Given the description of an element on the screen output the (x, y) to click on. 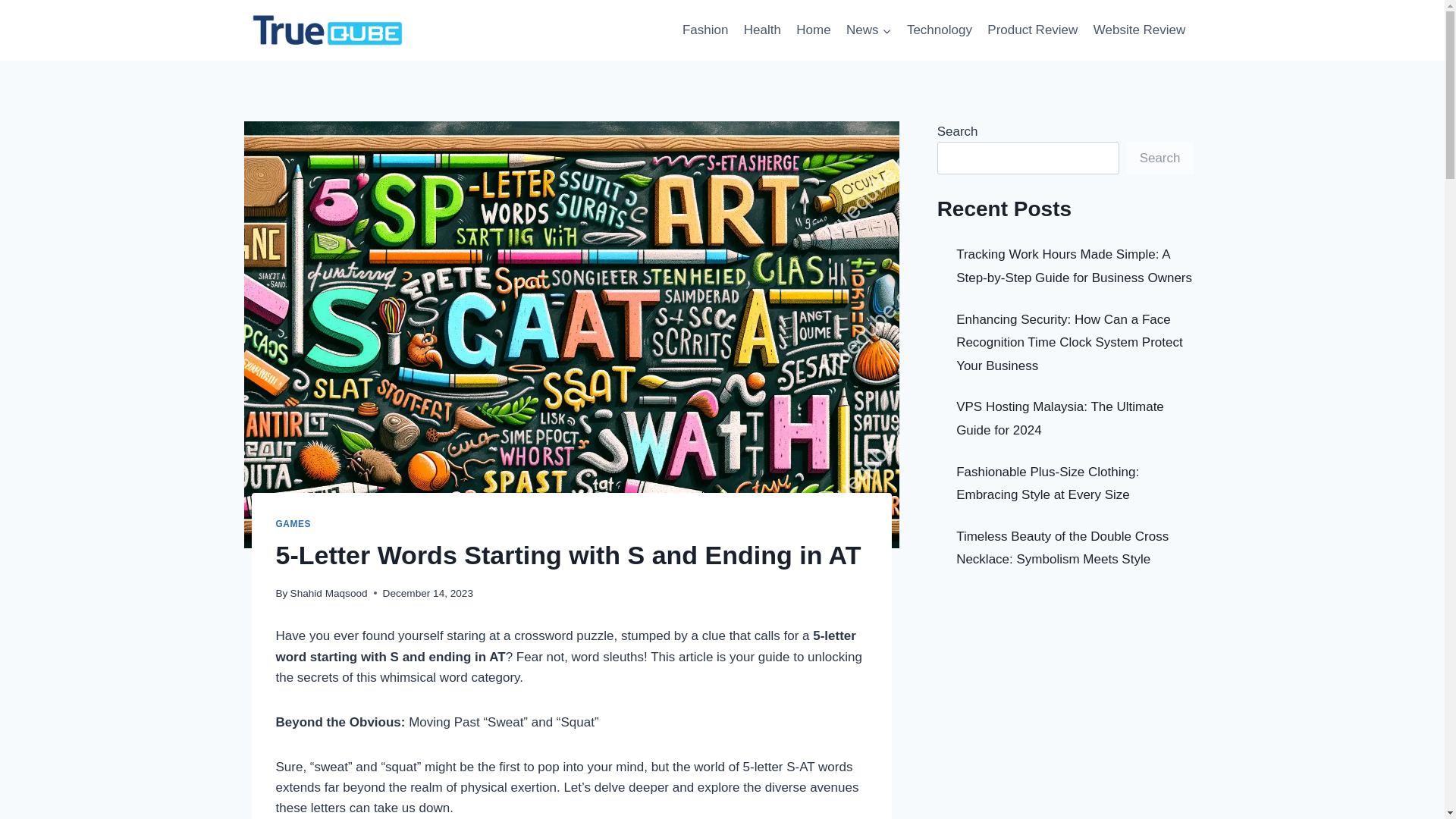
Product Review (1031, 30)
News (868, 30)
Fashion (705, 30)
GAMES (293, 523)
Health (762, 30)
Technology (939, 30)
Home (813, 30)
Shahid Maqsood (328, 593)
Website Review (1139, 30)
